Given the description of an element on the screen output the (x, y) to click on. 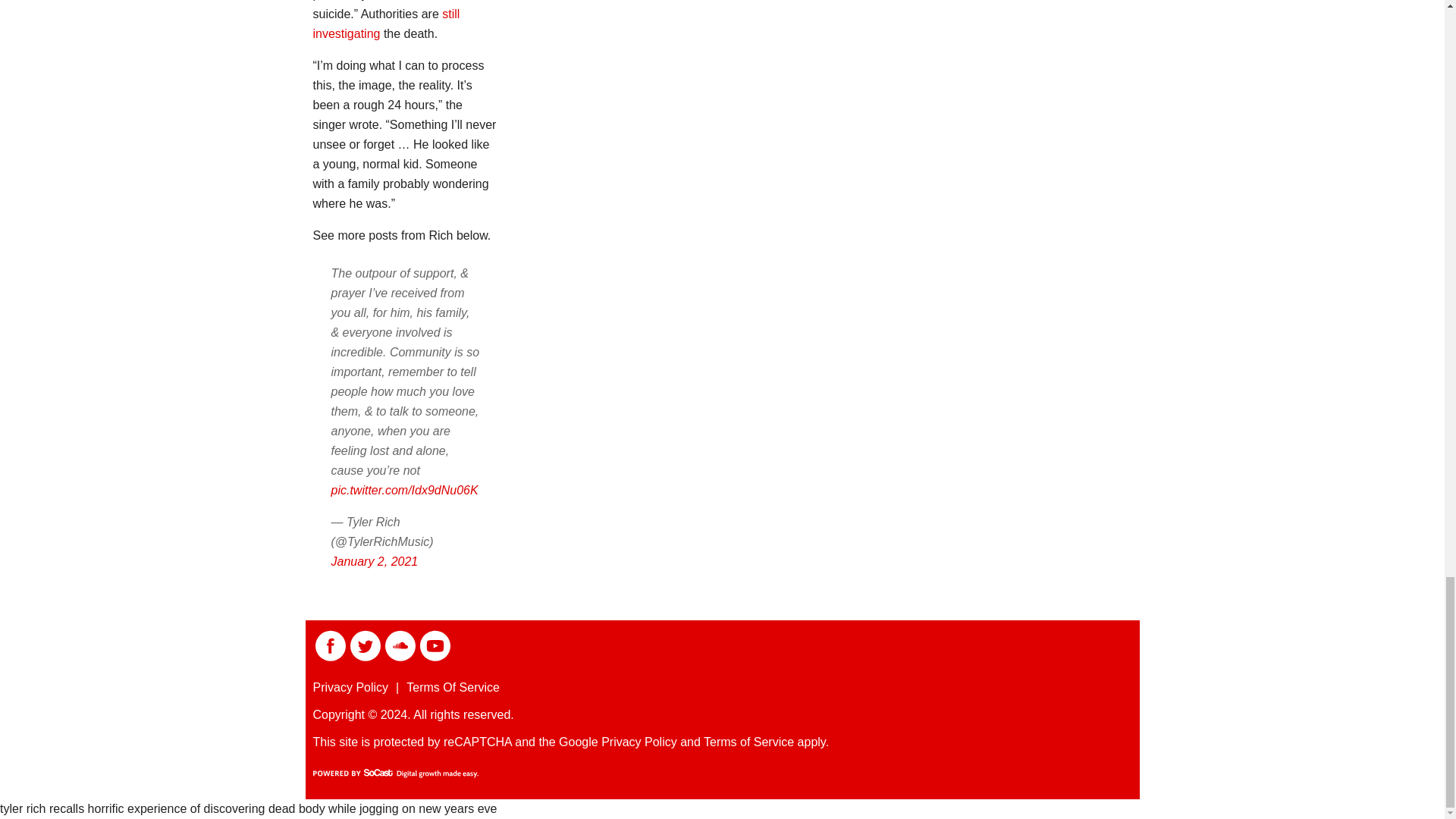
still investigating (386, 23)
Powered By SoCast (395, 773)
January 2, 2021 (373, 561)
